Given the description of an element on the screen output the (x, y) to click on. 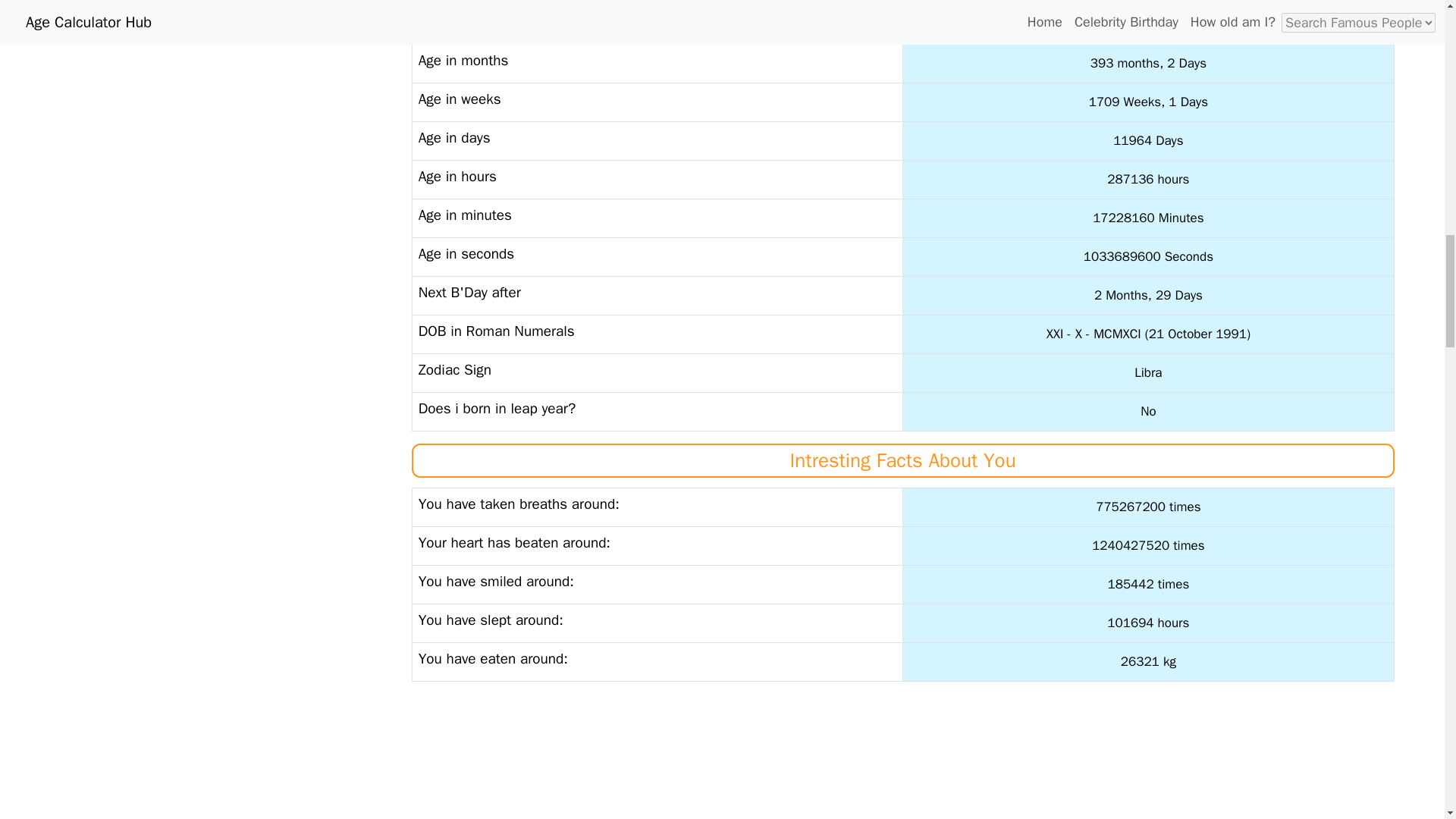
Advertisement (903, 756)
